Given the description of an element on the screen output the (x, y) to click on. 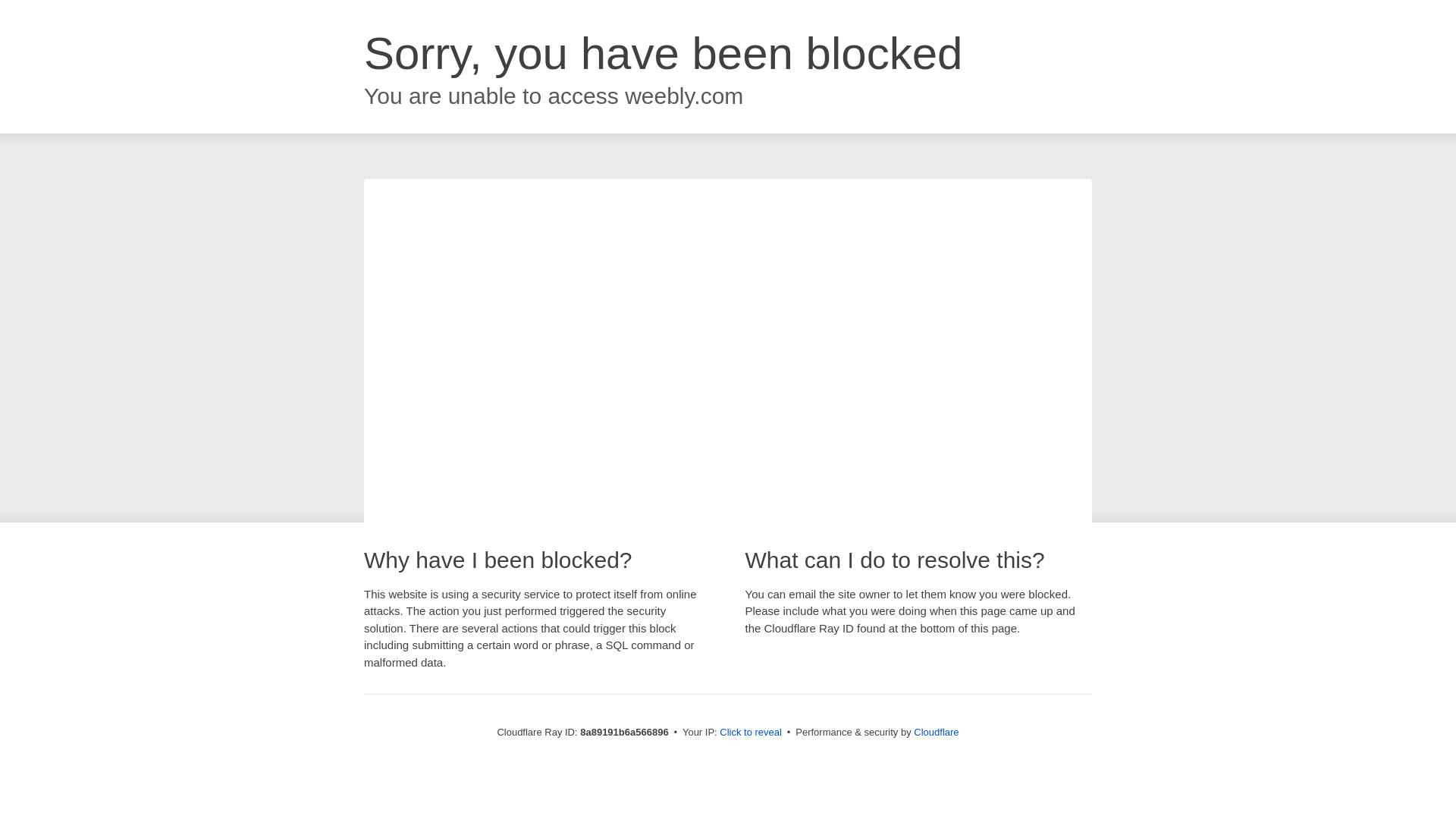
Cloudflare (936, 731)
Click to reveal (750, 732)
